Given the description of an element on the screen output the (x, y) to click on. 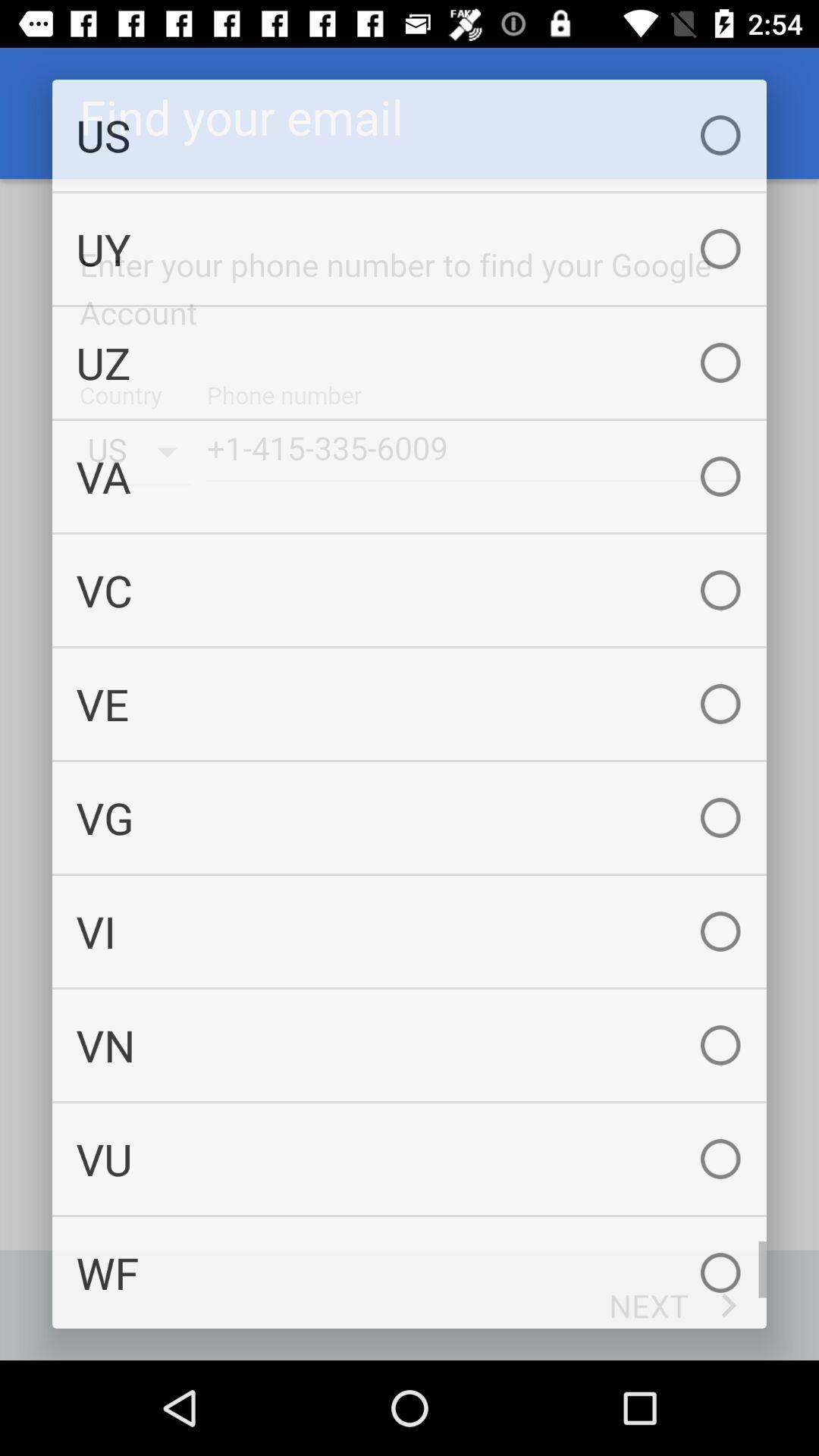
launch the ve icon (409, 703)
